Given the description of an element on the screen output the (x, y) to click on. 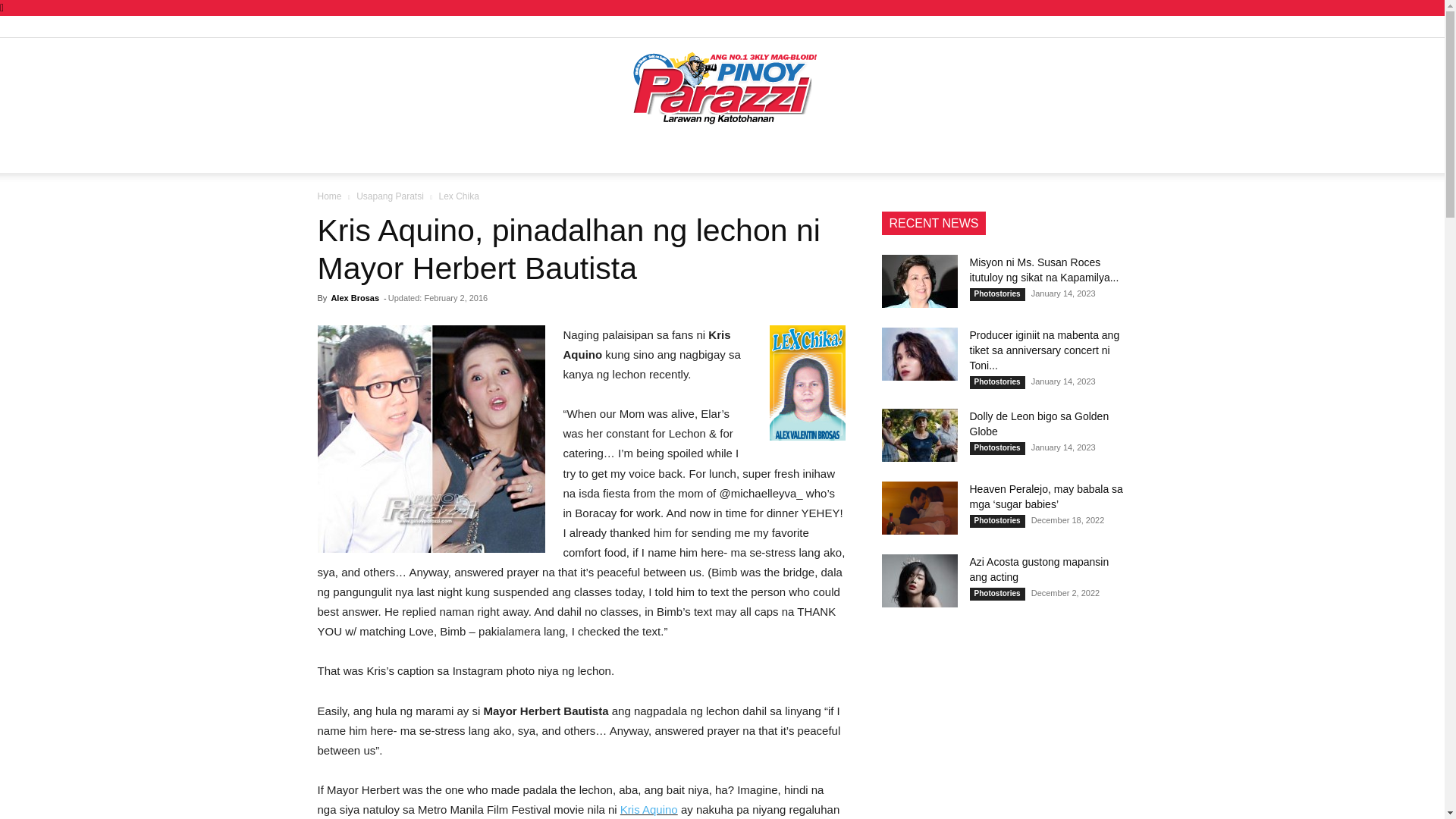
OPINION (754, 154)
View all posts in Usapang Paratsi (389, 195)
Youtube (1114, 25)
Pinoy Parazzi (722, 87)
Alex Brosas (354, 297)
USAPANG PARATSI (373, 154)
Twitter (1090, 25)
Home (328, 195)
BLIND ITEMS (827, 154)
Facebook (989, 25)
Tumblr (1065, 25)
PARAZZI VIDEOS (920, 154)
Linkedin (1015, 25)
Kris Aquino (649, 809)
PARAZZI MADE (477, 154)
